Given the description of an element on the screen output the (x, y) to click on. 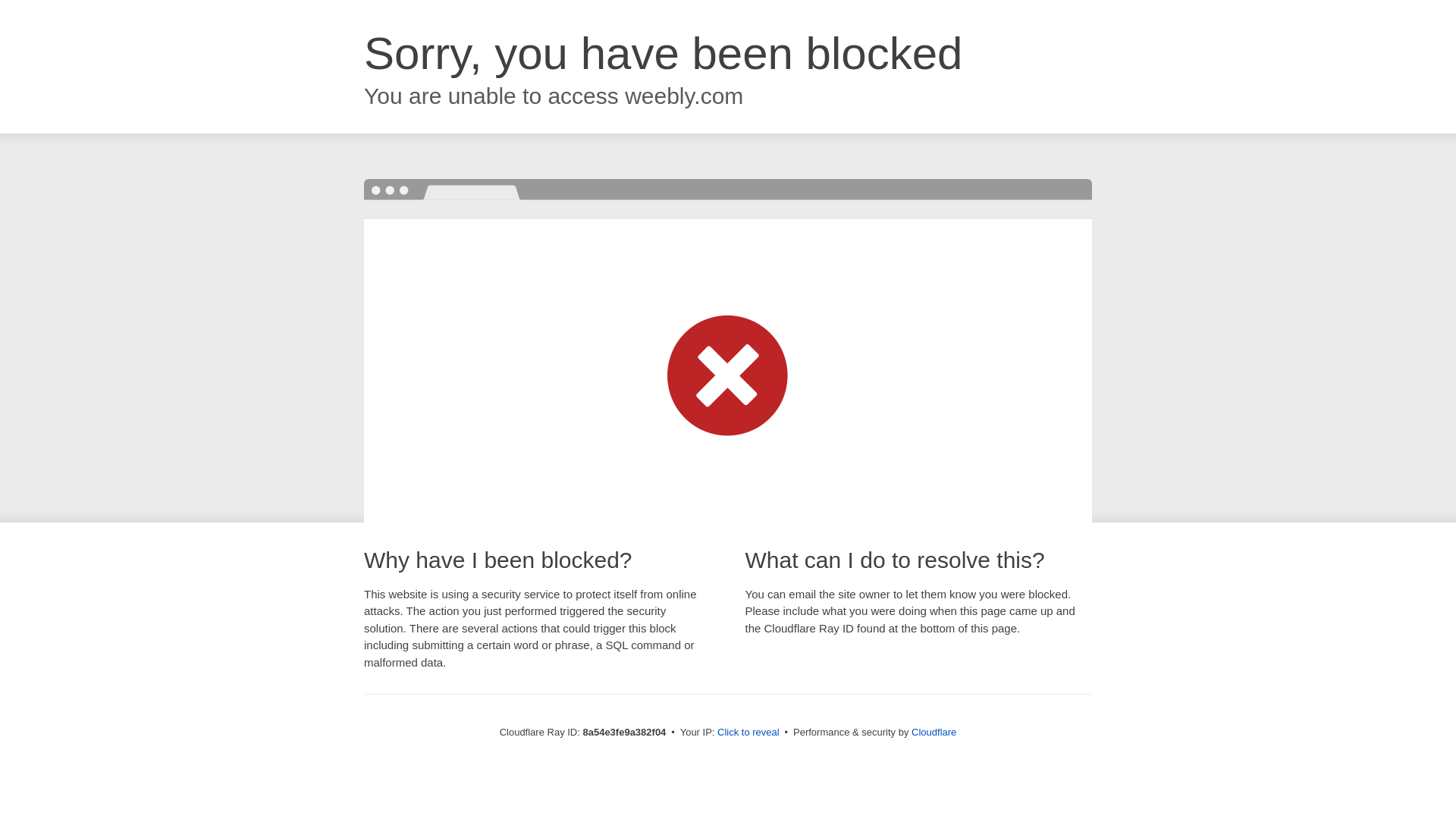
Click to reveal (747, 732)
Cloudflare (933, 731)
